Given the description of an element on the screen output the (x, y) to click on. 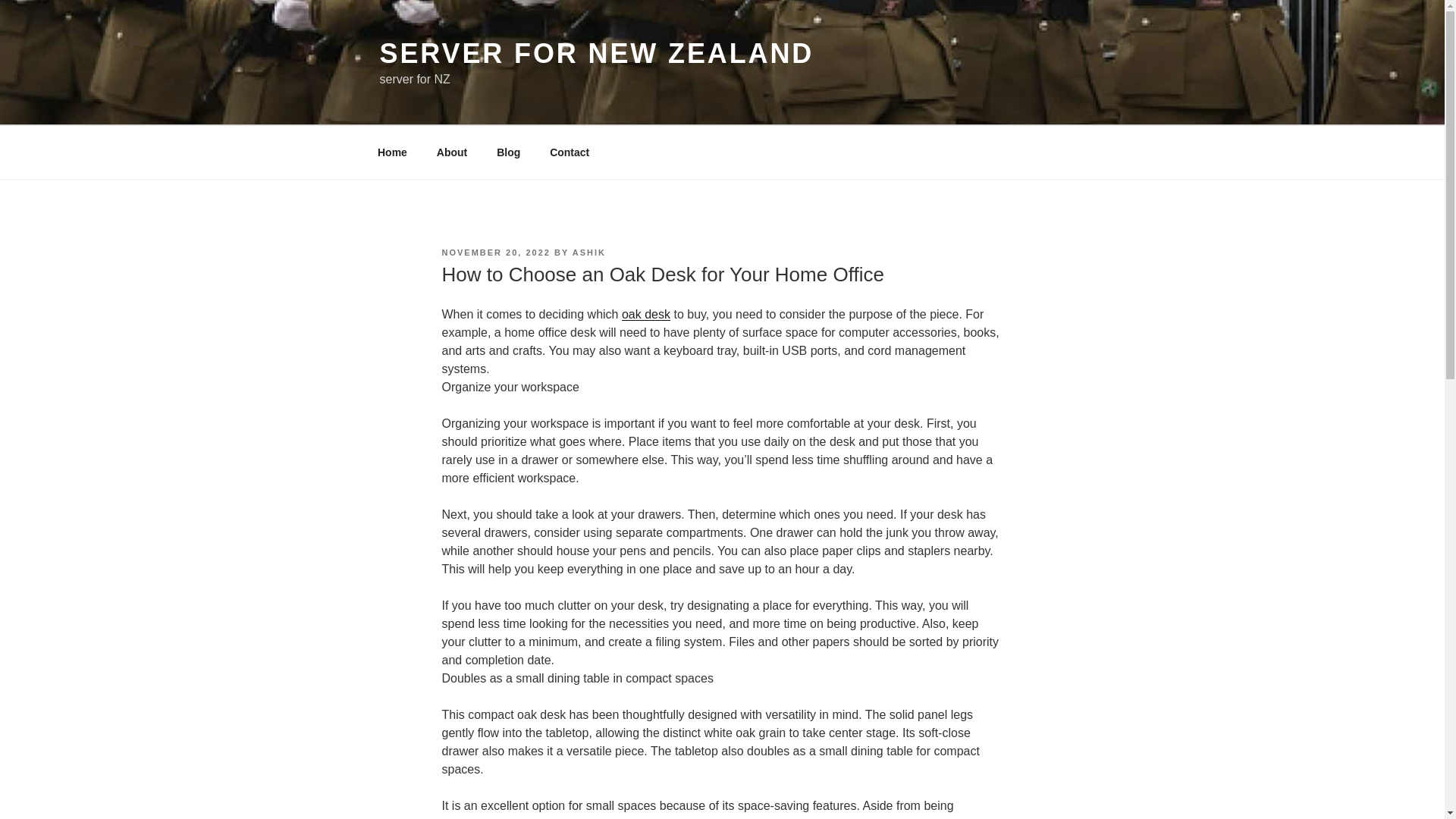
Contact (569, 151)
ASHIK (588, 252)
oak desk (645, 314)
Home (392, 151)
NOVEMBER 20, 2022 (495, 252)
Blog (508, 151)
SERVER FOR NEW ZEALAND (595, 52)
About (451, 151)
